Given the description of an element on the screen output the (x, y) to click on. 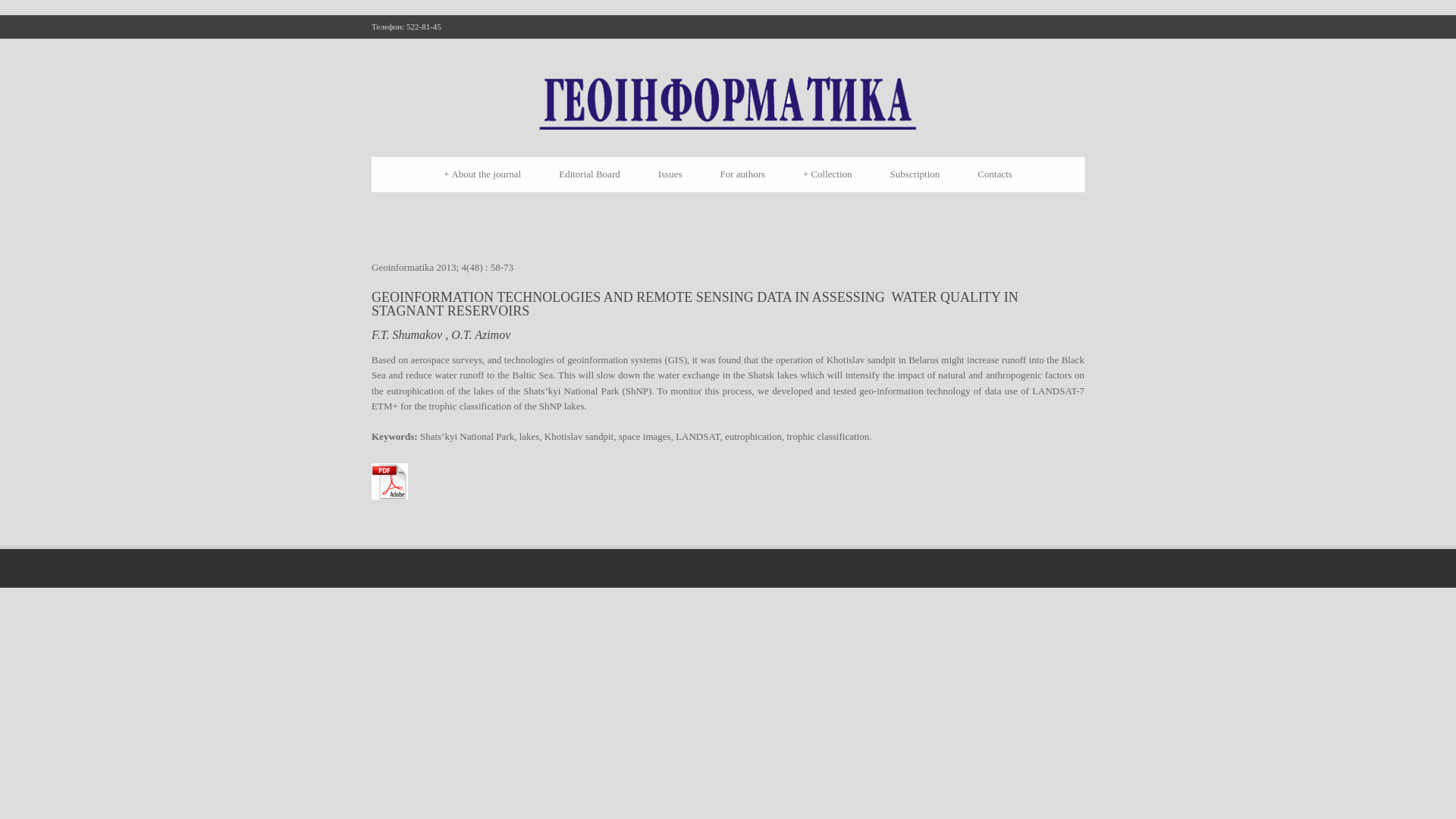
Subscription (914, 174)
Issues (670, 174)
Editorial Board (589, 174)
For authors (742, 174)
Contacts (994, 174)
